Given the description of an element on the screen output the (x, y) to click on. 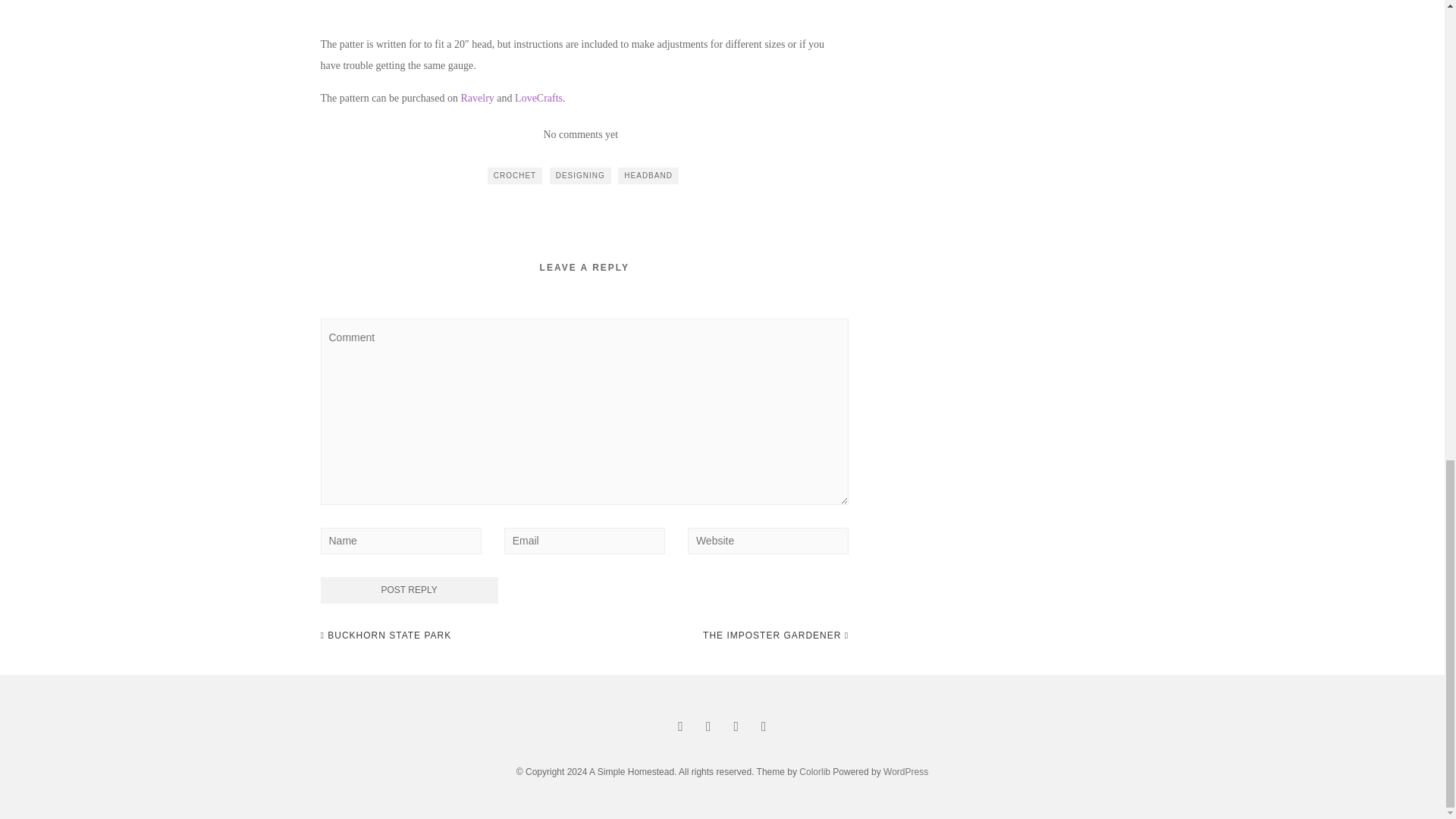
Ravelry (478, 98)
LoveCrafts (538, 98)
BUCKHORN STATE PARK (385, 635)
CROCHET (514, 175)
DESIGNING (580, 175)
HEADBAND (647, 175)
No comments yet (580, 134)
Post Reply (408, 590)
Post Reply (408, 590)
THE IMPOSTER GARDENER (775, 635)
